Given the description of an element on the screen output the (x, y) to click on. 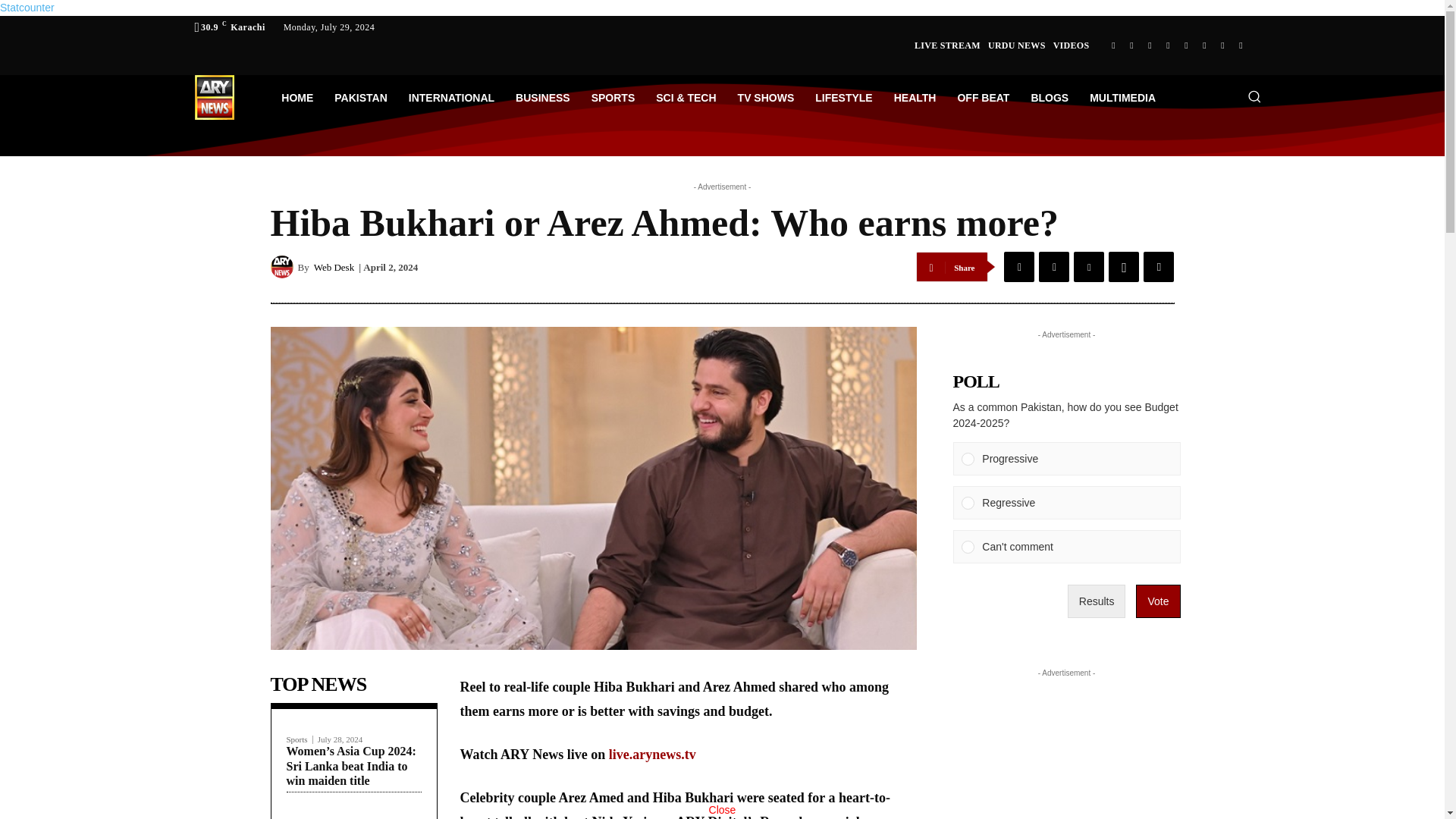
Web Desk (283, 266)
Twitter (1167, 45)
PAKISTAN (360, 97)
HOME (296, 97)
Youtube (1185, 45)
Instagram (1149, 45)
Twitter (1053, 266)
LIVE STREAM (946, 45)
Facebook (1018, 266)
LIFESTYLE (843, 97)
Tiktok (1221, 45)
Soundcloud (1240, 45)
VIDEOS (1070, 45)
INTERNATIONAL (451, 97)
Facebook (1112, 45)
